Given the description of an element on the screen output the (x, y) to click on. 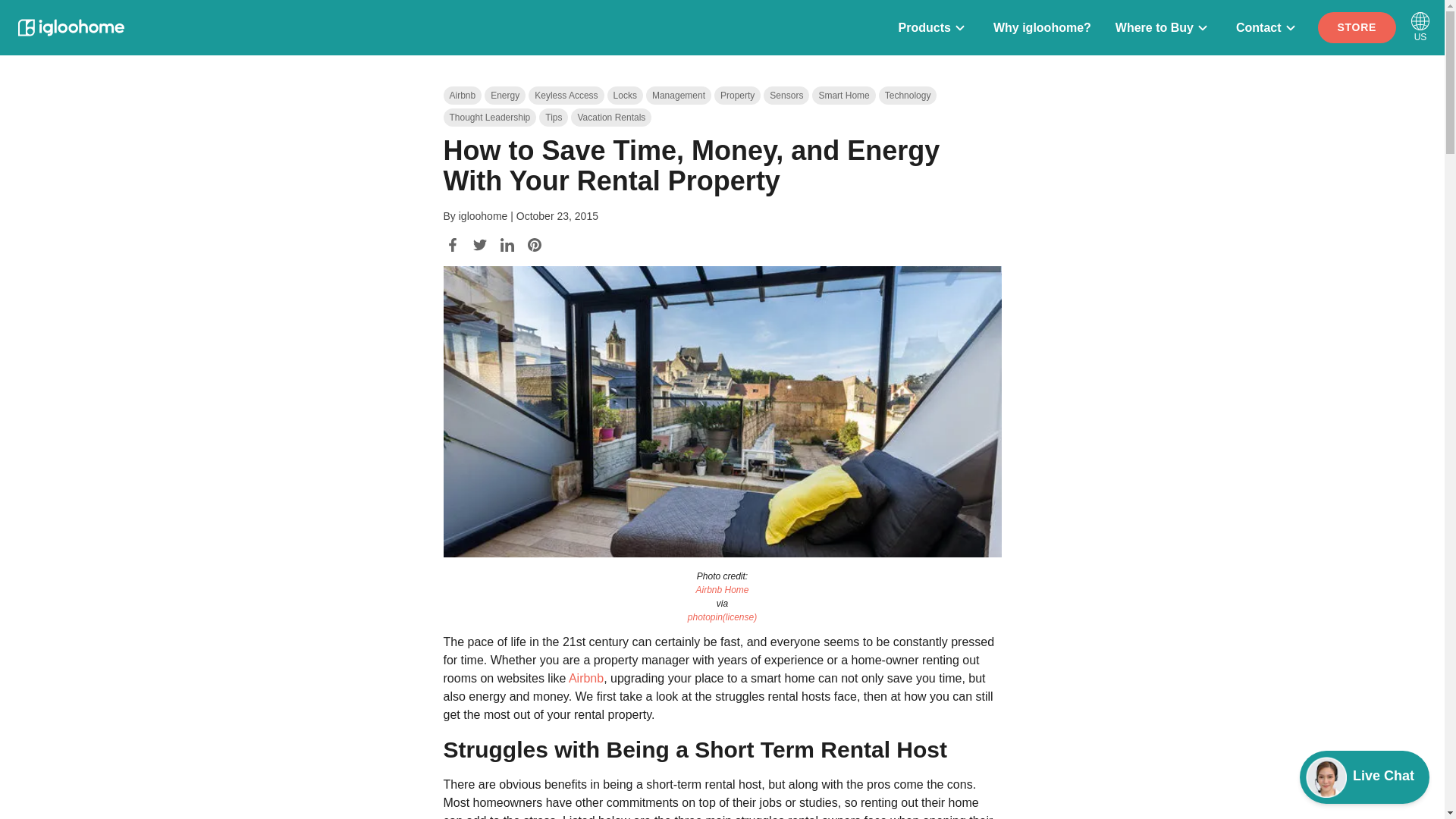
Why igloohome? (1042, 27)
Keyless Access (1098, 27)
Property (566, 95)
Products (737, 95)
Thought Leadership (933, 27)
Contact (488, 117)
Smart Home (1267, 27)
Vacation Rentals (843, 95)
Airbnb (610, 117)
Technology (586, 677)
Sensors (908, 95)
STORE (785, 95)
Where to Buy (1356, 27)
Airbnb Home (1163, 27)
